Given the description of an element on the screen output the (x, y) to click on. 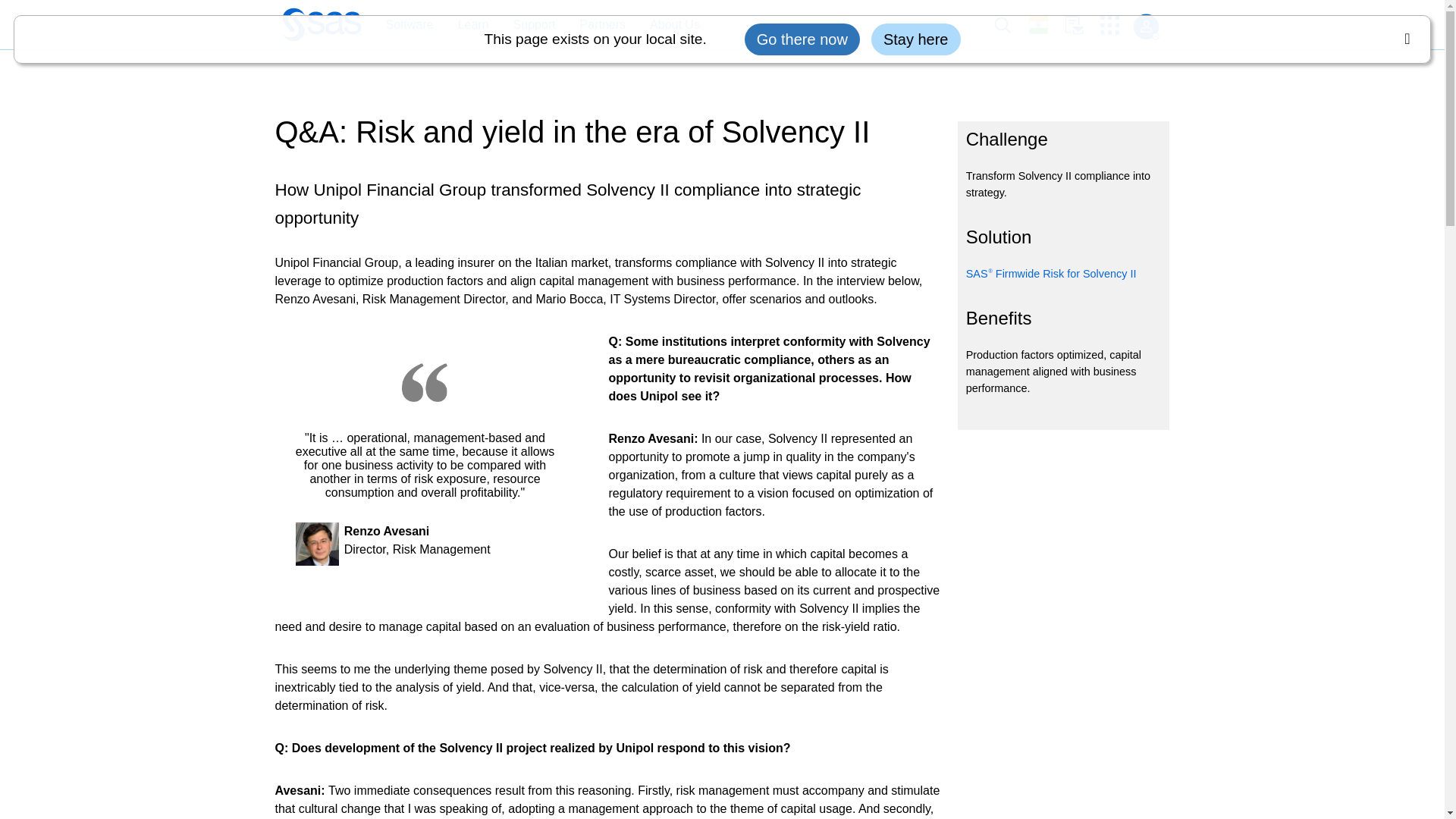
Renzo Avesani, Unipol Financial Group (317, 543)
About Us (674, 24)
Partners (602, 24)
Support (534, 24)
Search (1010, 25)
SAS Sites (1114, 25)
Worldwide Sites (1046, 24)
Partners (595, 24)
Support (526, 24)
Learn (465, 24)
Learn (472, 24)
Sign In (1145, 26)
Software (401, 24)
Contact Us (1082, 25)
